Given the description of an element on the screen output the (x, y) to click on. 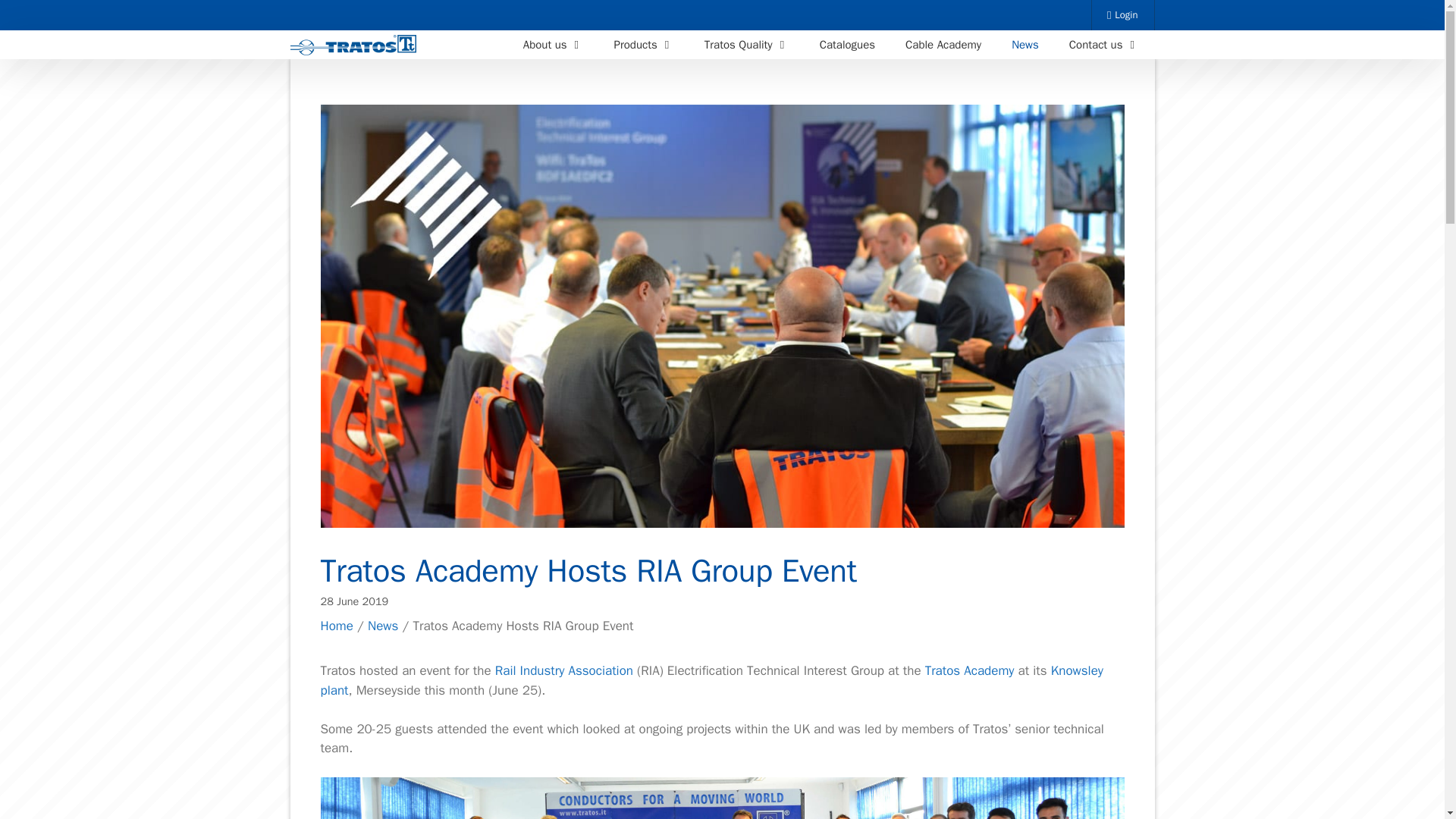
Login (1123, 15)
Tratos Group (352, 45)
Tratos Quality (746, 44)
Products (643, 44)
Tratos Group (356, 45)
About us (553, 44)
